Given the description of an element on the screen output the (x, y) to click on. 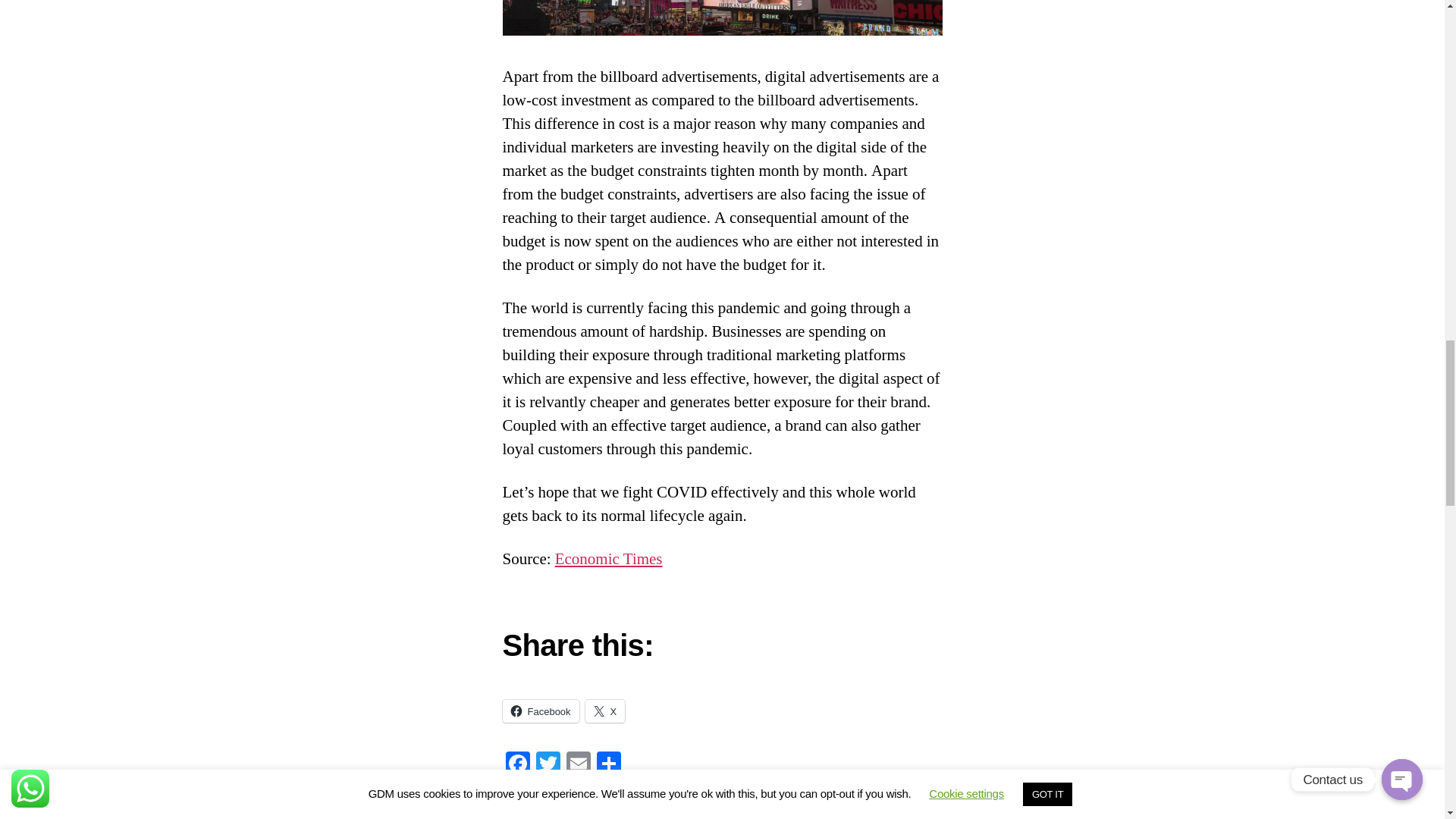
Facebook (517, 765)
Click to share on Facebook (540, 711)
Email (577, 765)
Click to share on X (605, 711)
Twitter (547, 765)
